Given the description of an element on the screen output the (x, y) to click on. 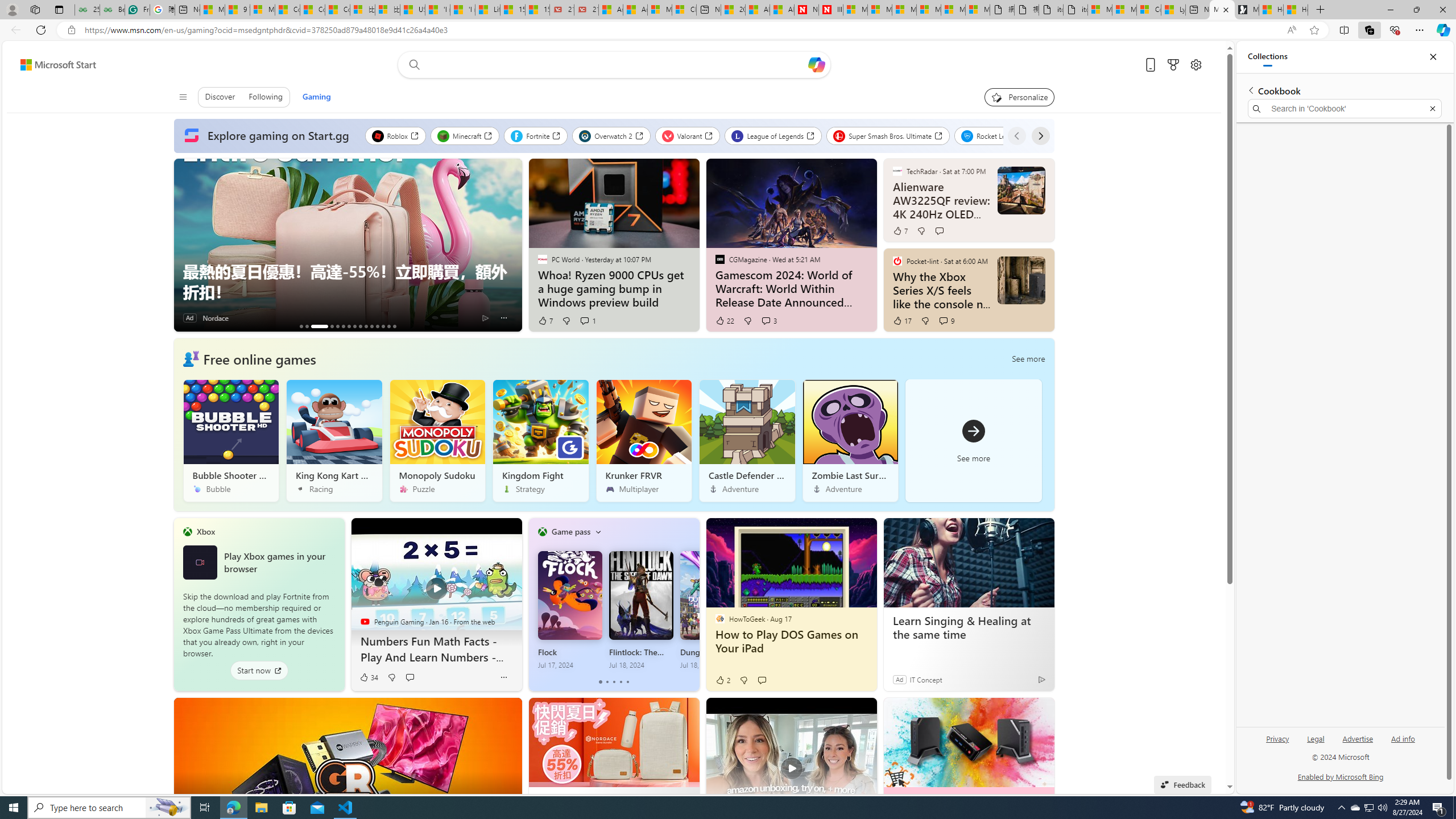
Ad (899, 678)
Open Copilot (816, 64)
8 Best Puzzle Games If You're Tired Of Wordle (306, 326)
Learn Singing & Healing at the same time (968, 627)
AutomationID: tab_nativead-resinfopane-6 (342, 326)
Class: previous-flipper (533, 604)
Cloud Computing Services | Microsoft Azure (683, 9)
34 Like (367, 676)
Back to list of collections (1250, 90)
Kingdom Fight (540, 440)
25 Basic Linux Commands For Beginners - GeeksforGeeks (86, 9)
